Given the description of an element on the screen output the (x, y) to click on. 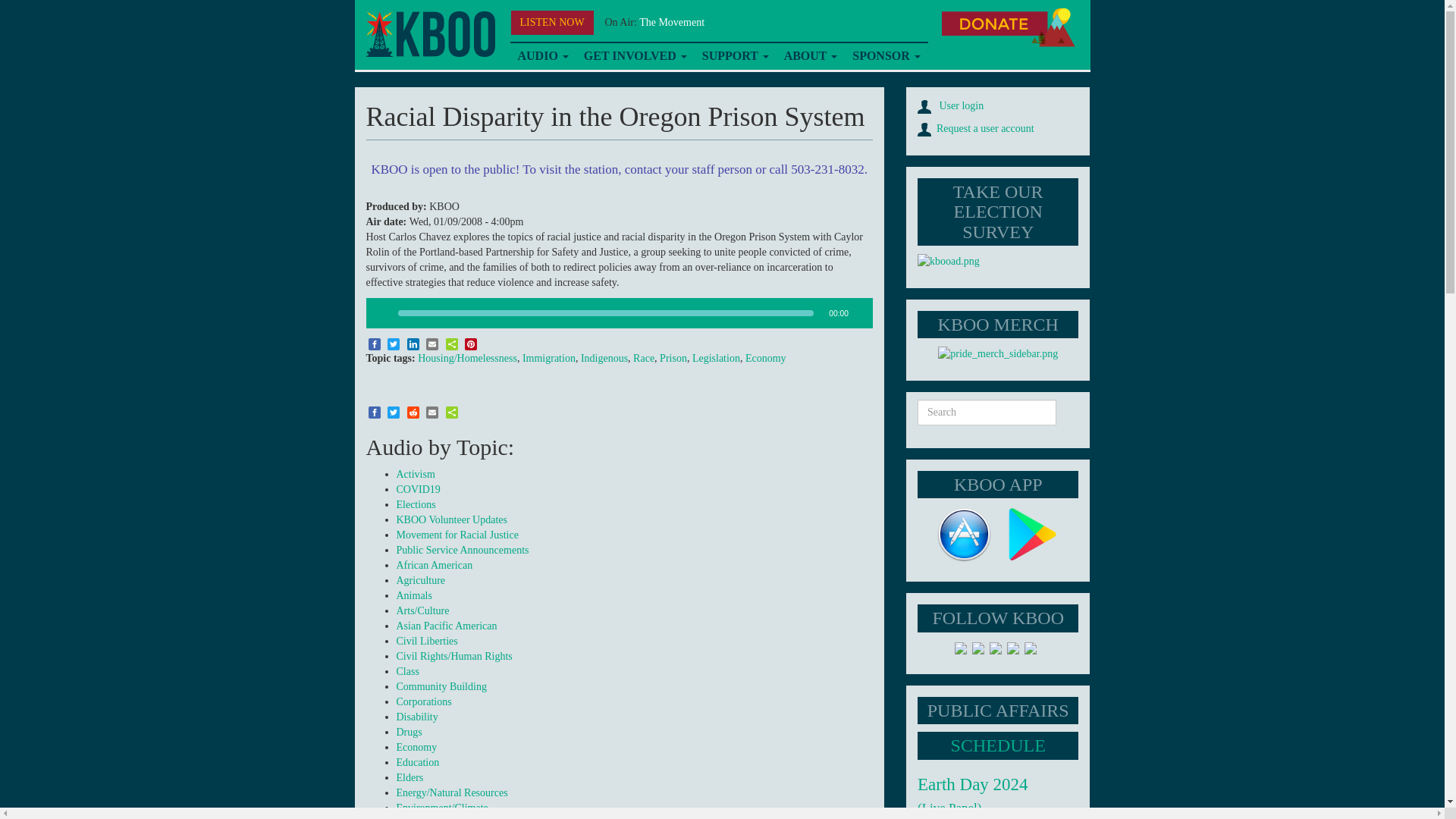
GET INVOLVED (635, 55)
AUDIO (542, 55)
LISTEN NOW (551, 22)
ABOUT (810, 55)
SUPPORT (735, 55)
The Movement (671, 21)
Home (430, 34)
